Given the description of an element on the screen output the (x, y) to click on. 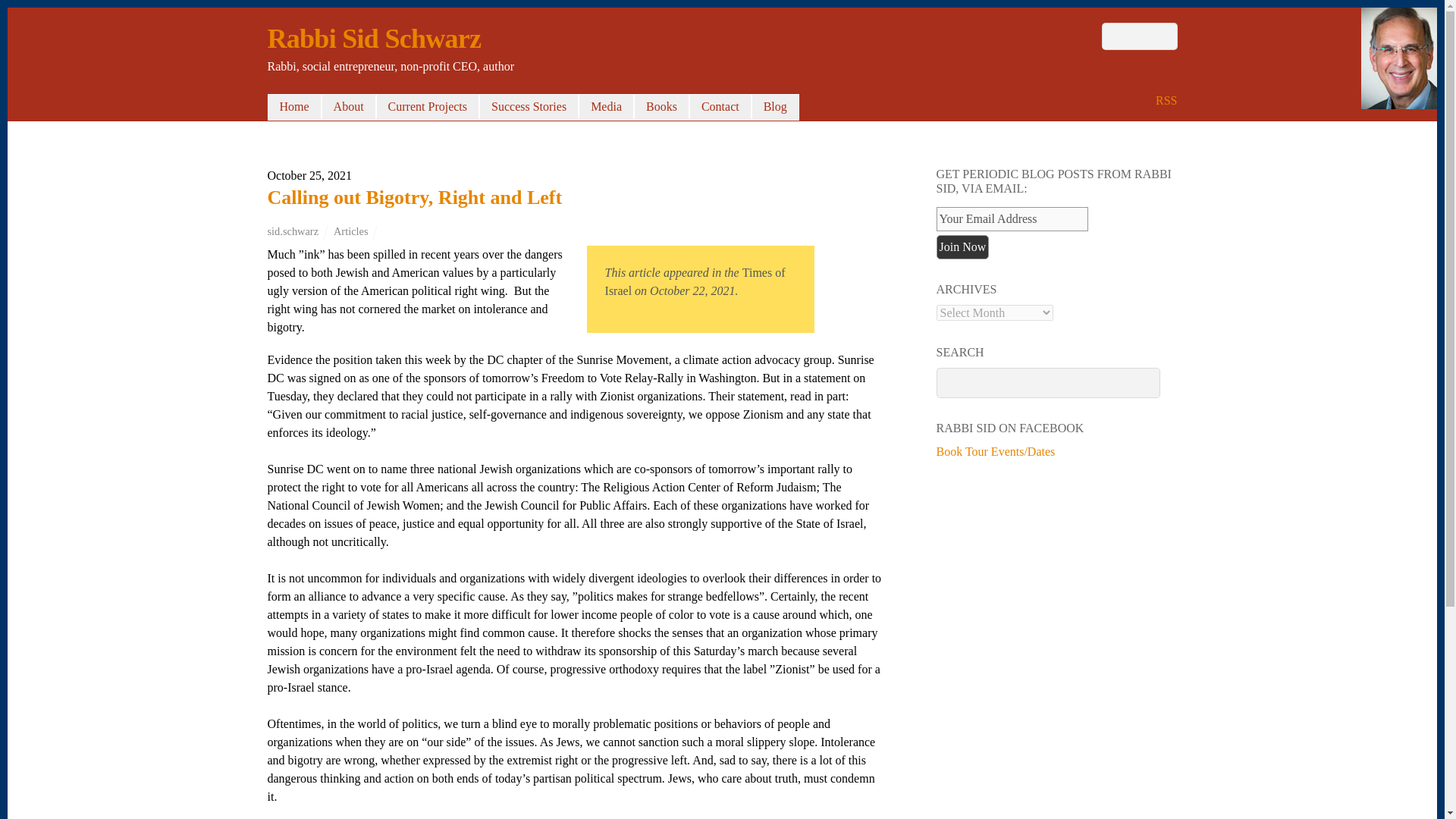
Success Stories (528, 106)
Rabbi Sid Schwarz (373, 38)
About (348, 106)
RSS (1166, 100)
Calling out Bigotry, Right and Left (414, 197)
Articles (350, 231)
sid.schwarz (292, 231)
Media (605, 106)
Contact (719, 106)
Join Now (962, 247)
Current Projects (427, 106)
Search (1138, 35)
Blog (775, 106)
Books (660, 106)
Rabbi Sid Schwarz (373, 38)
